Given the description of an element on the screen output the (x, y) to click on. 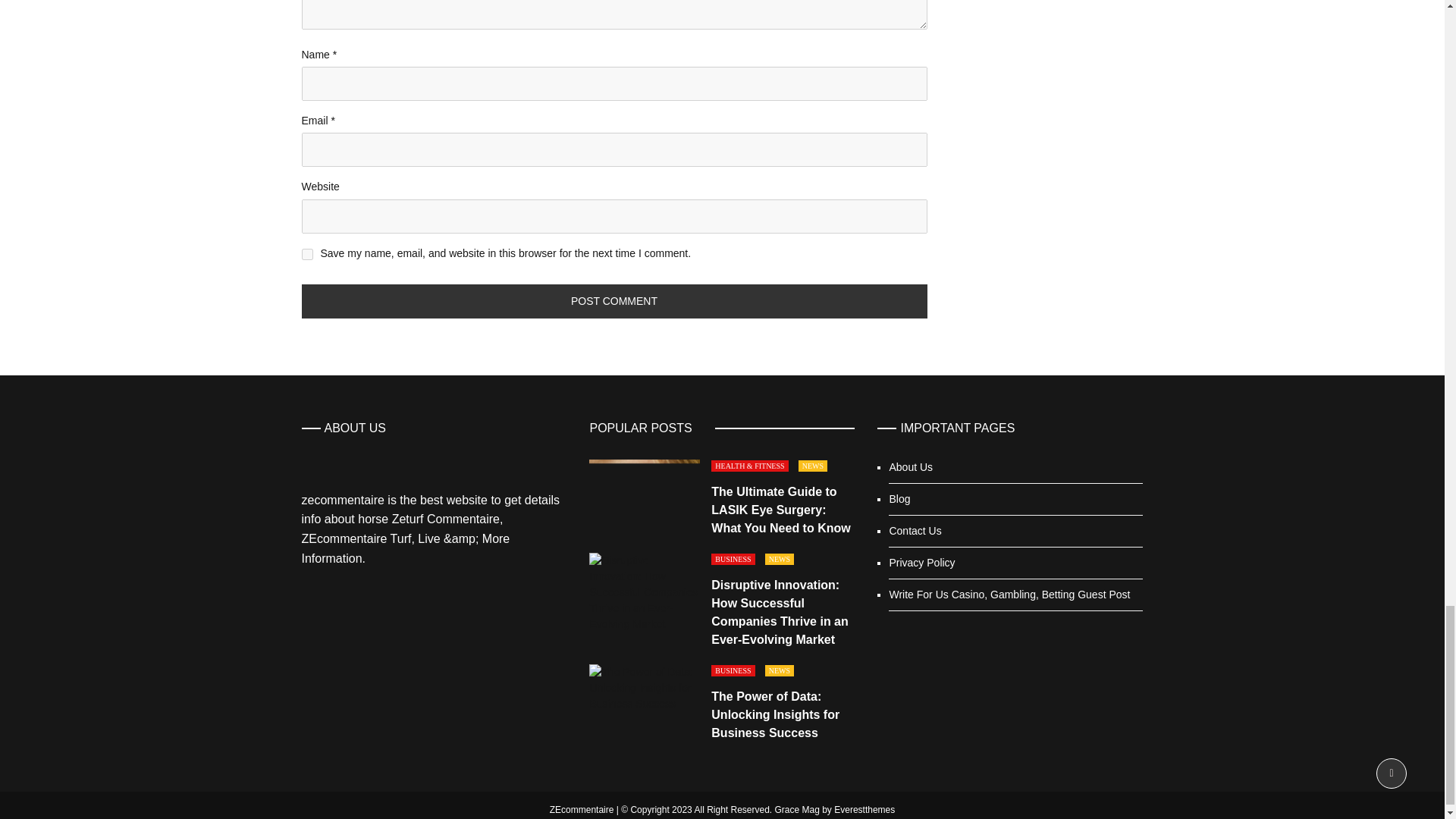
Post Comment (614, 301)
yes (307, 254)
Post Comment (614, 301)
